Given the description of an element on the screen output the (x, y) to click on. 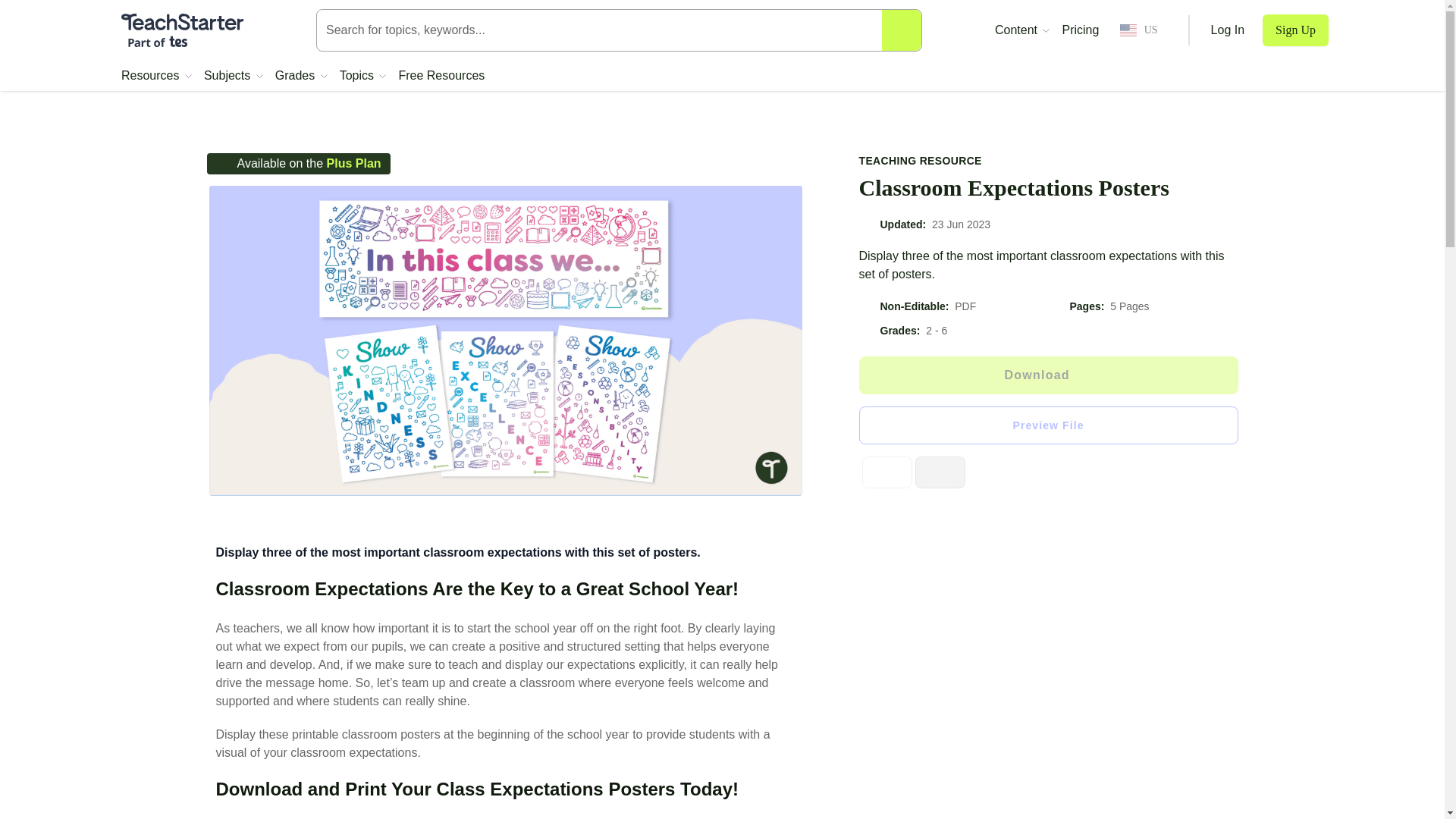
Log In (1227, 30)
Change location (1138, 30)
Content  (1021, 30)
Log in to your account (1227, 30)
Subjects  (233, 75)
Create a Teach Starter account (1294, 29)
Sign Up (1294, 29)
Pricing (1080, 30)
US (1138, 30)
Back to homepage (181, 29)
